Given the description of an element on the screen output the (x, y) to click on. 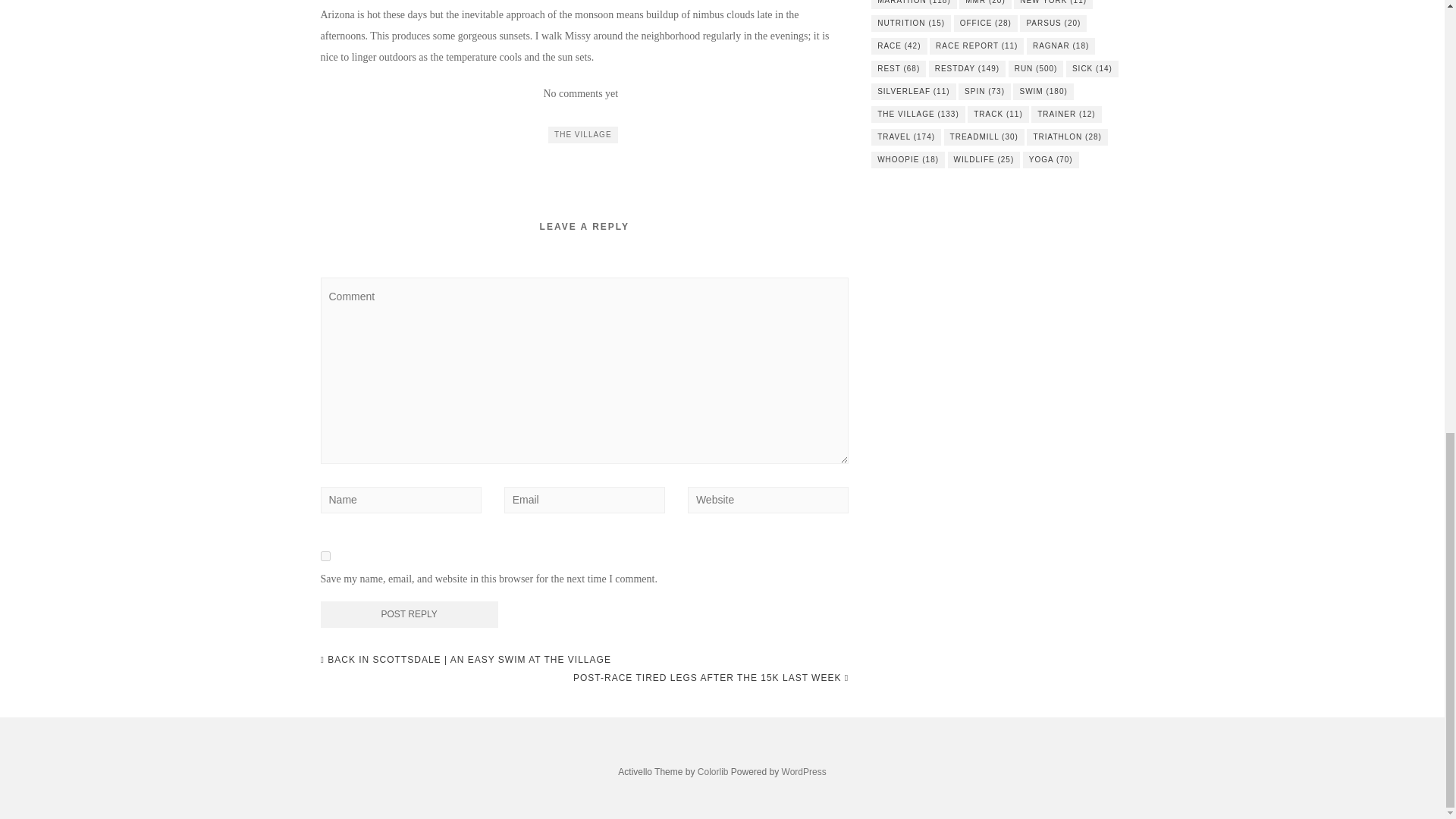
POST-RACE TIRED LEGS AFTER THE 15K LAST WEEK (710, 678)
yes (325, 556)
Post Reply (408, 614)
No comments yet (580, 93)
THE VILLAGE (582, 134)
Post Reply (408, 614)
